Given the description of an element on the screen output the (x, y) to click on. 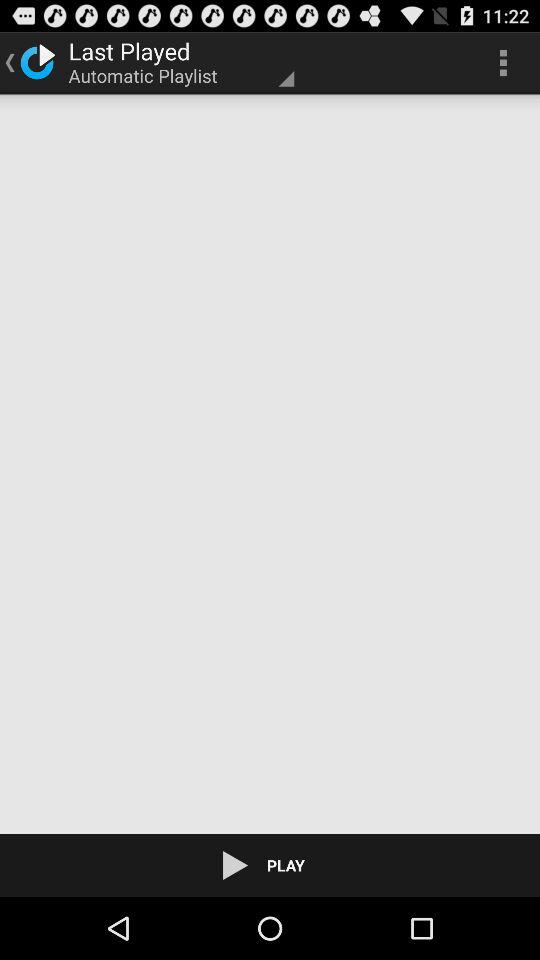
open the icon above the play (270, 463)
